Given the description of an element on the screen output the (x, y) to click on. 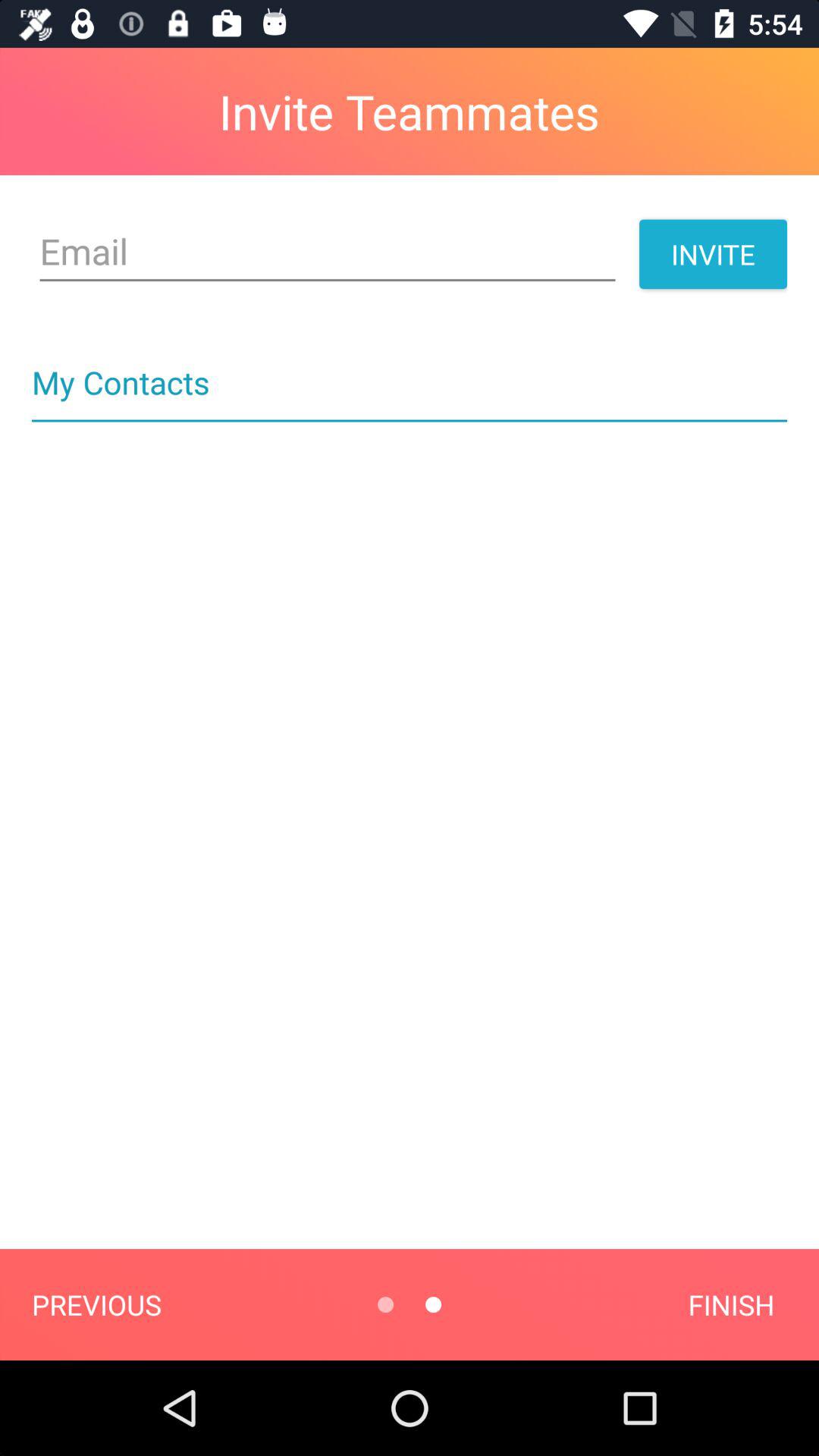
turn on the finish icon (731, 1304)
